Given the description of an element on the screen output the (x, y) to click on. 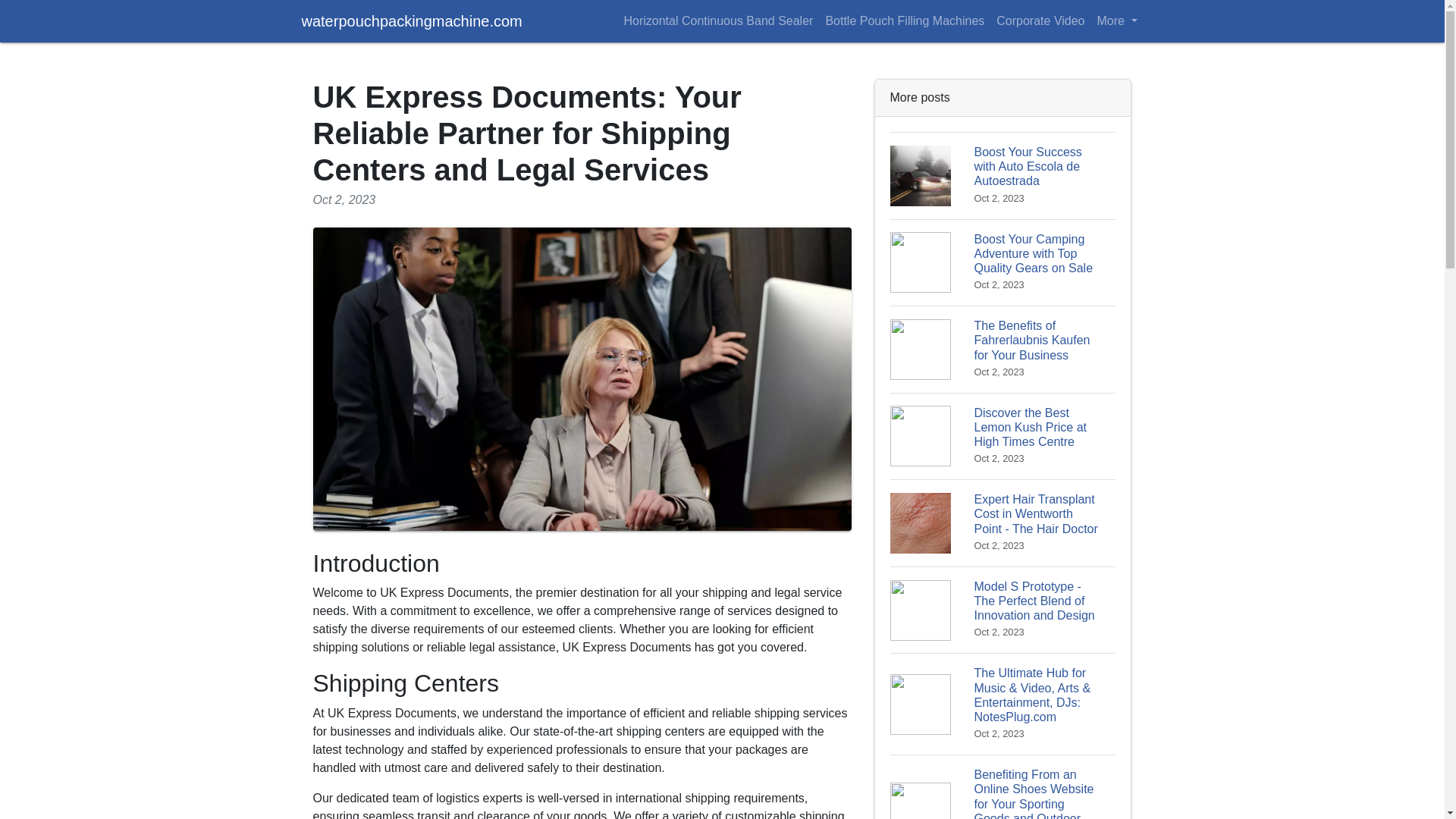
More (1116, 20)
Horizontal Continuous Band Sealer (717, 20)
waterpouchpackingmachine.com (411, 20)
Bottle Pouch Filling Machines (904, 20)
